Given the description of an element on the screen output the (x, y) to click on. 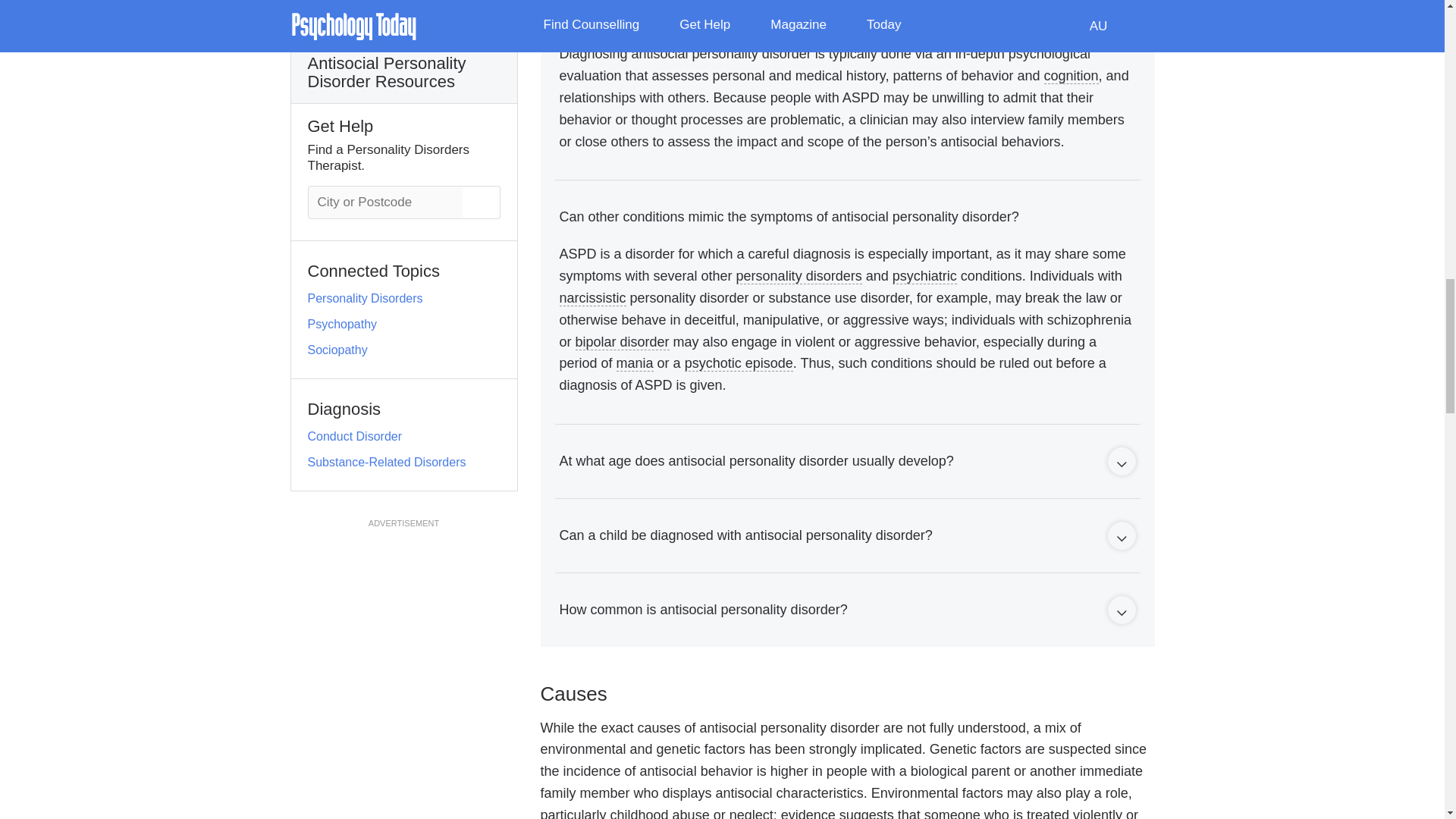
Created with Sketch. (1120, 613)
Created with Sketch. (1120, 464)
Created with Sketch. (1120, 539)
